Given the description of an element on the screen output the (x, y) to click on. 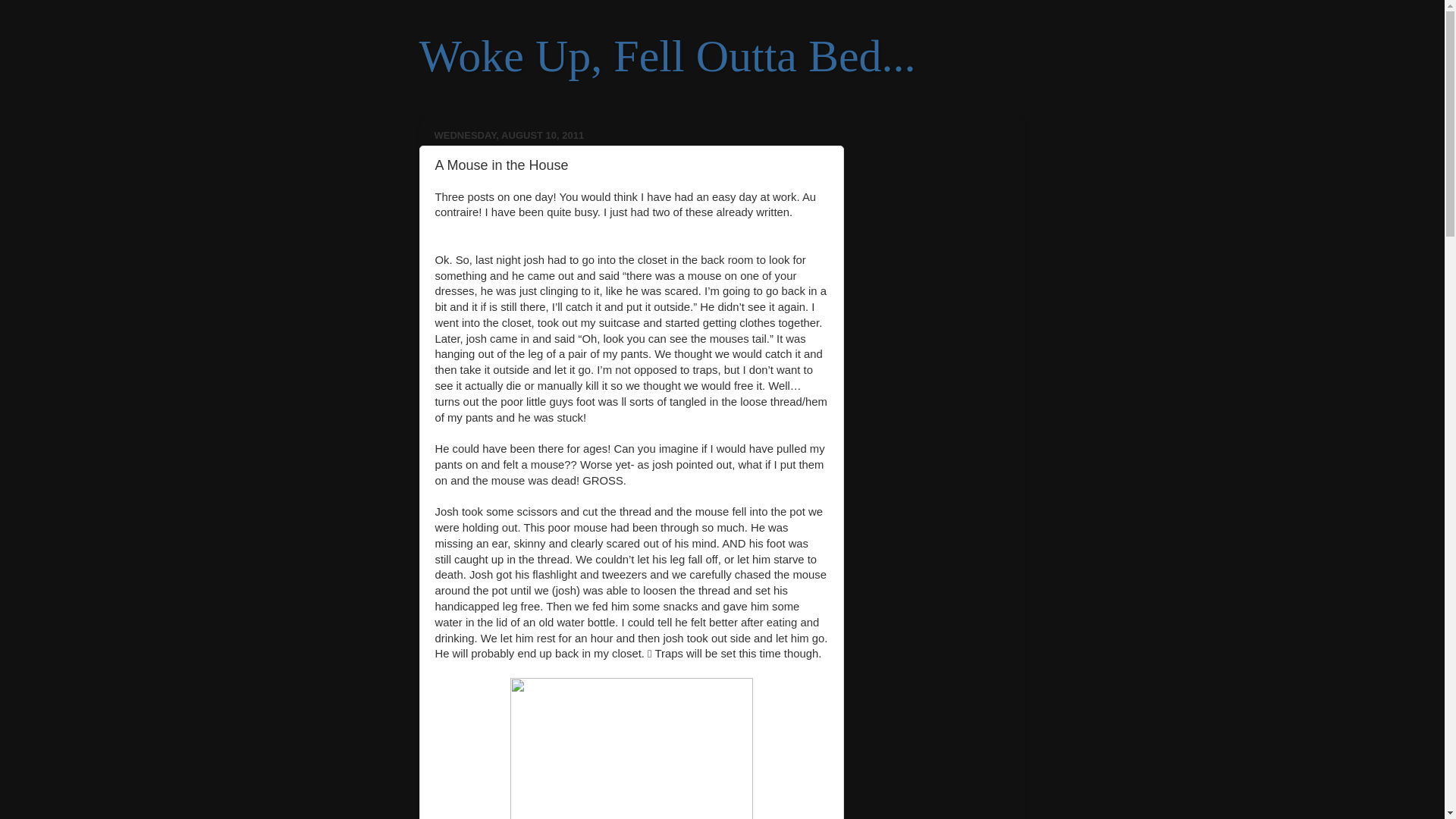
Woke Up, Fell Outta Bed... (667, 56)
